Given the description of an element on the screen output the (x, y) to click on. 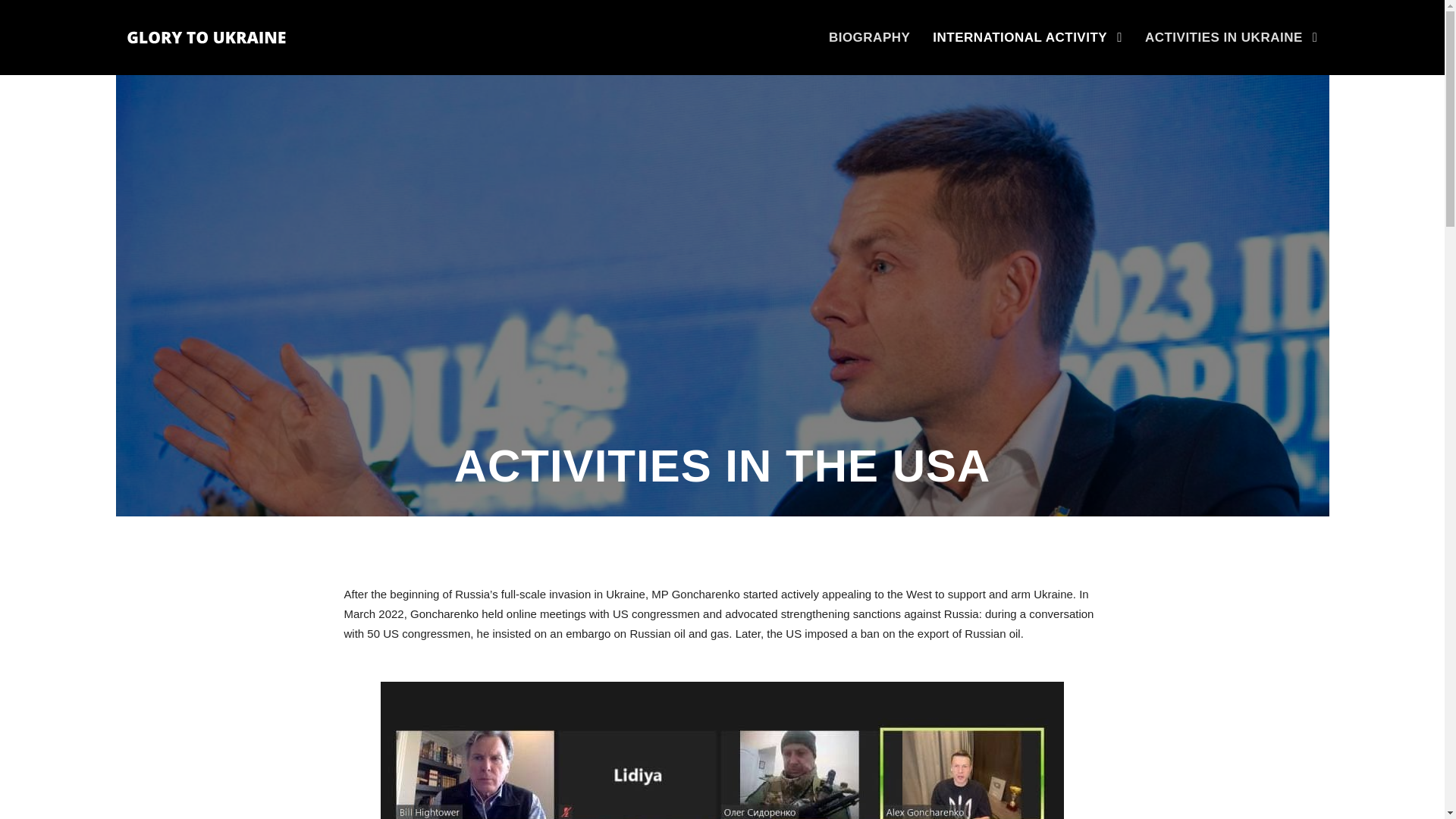
INTERNATIONAL ACTIVITY (1027, 51)
BIOGRAPHY (869, 51)
ACTIVITIES IN UKRAINE (1230, 51)
GLORY TO UKRAINE (207, 37)
